Given the description of an element on the screen output the (x, y) to click on. 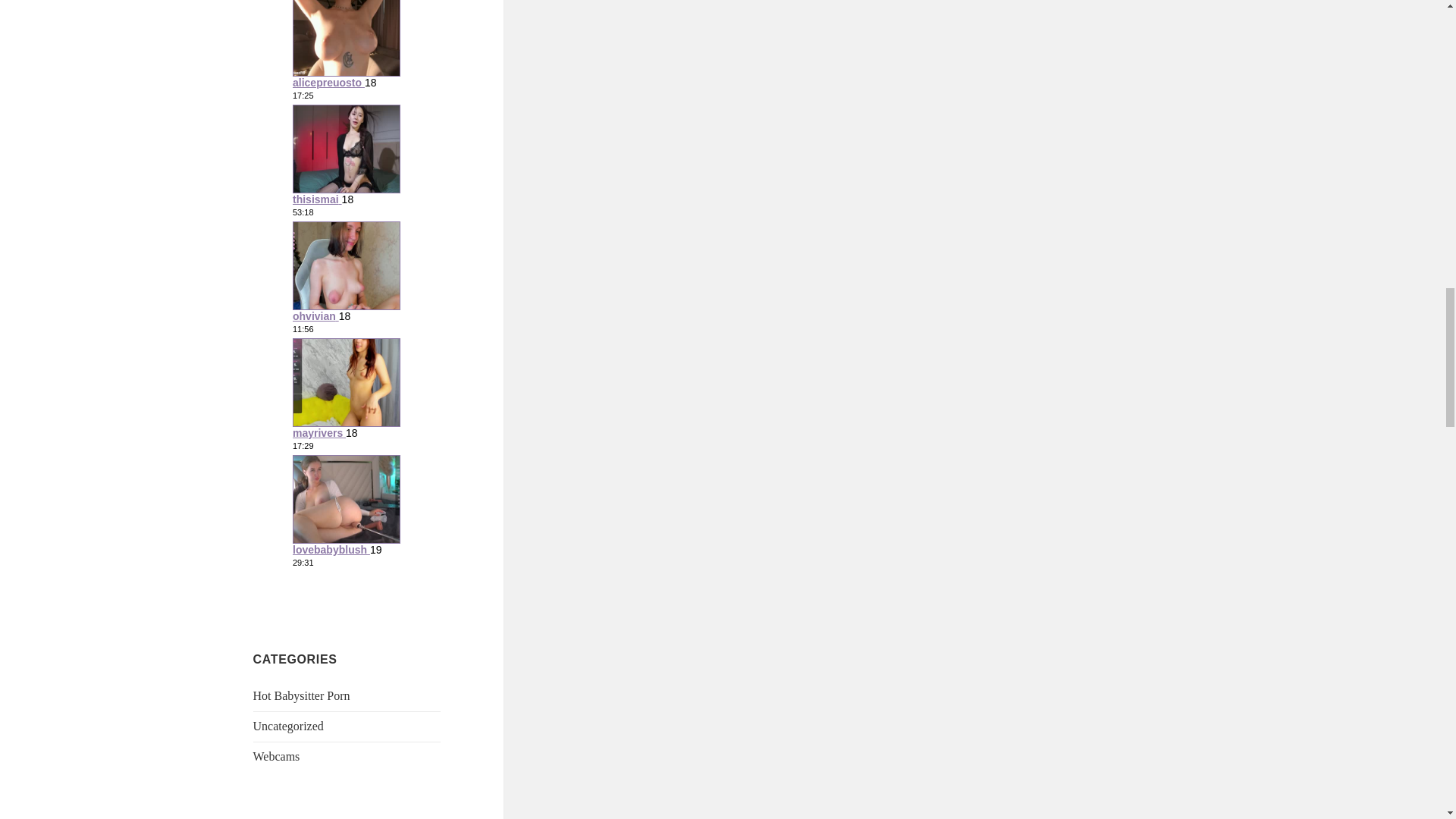
Hot Babysitter Porn (301, 695)
Uncategorized (288, 725)
Webcams (276, 756)
